Given the description of an element on the screen output the (x, y) to click on. 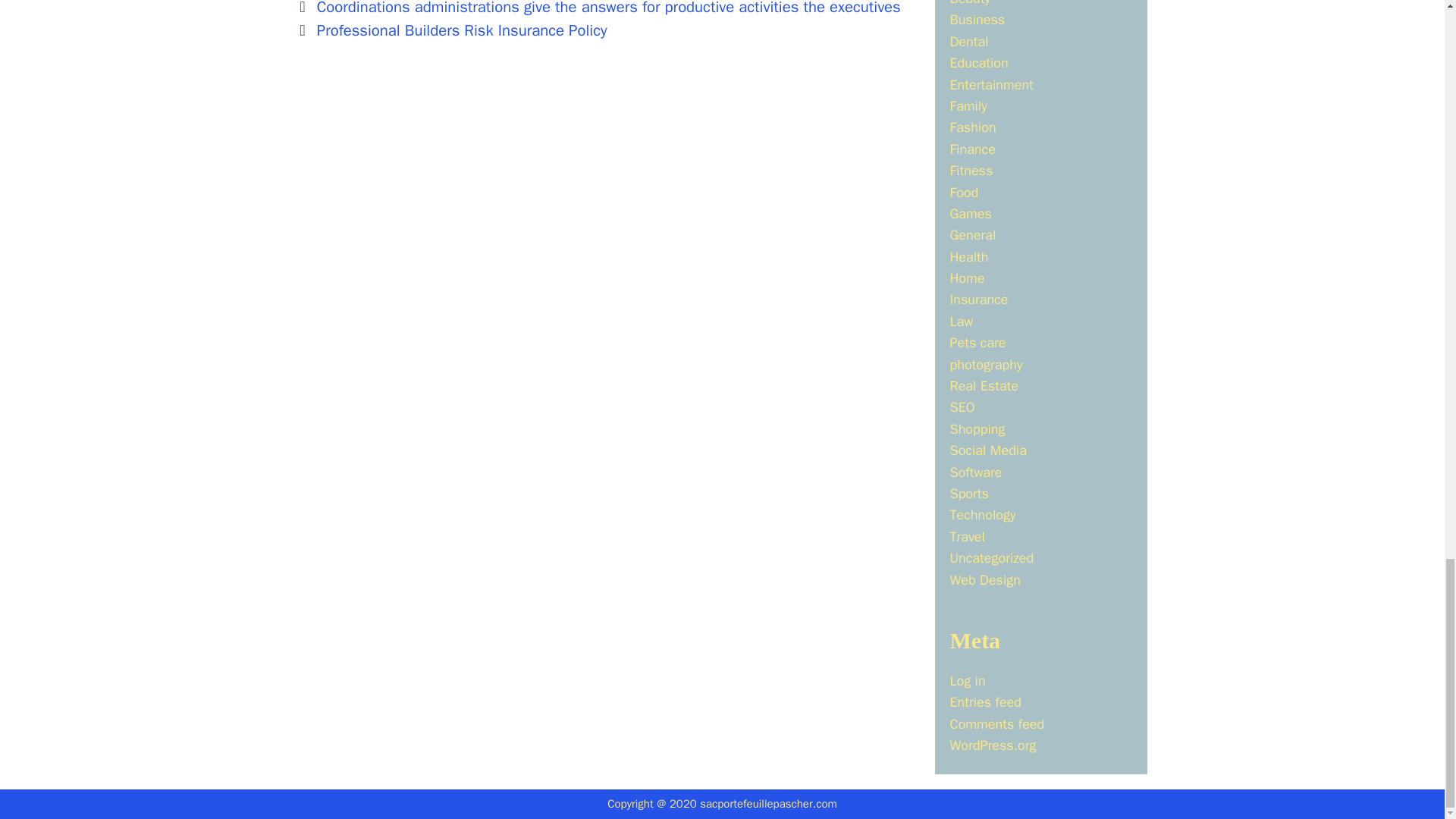
Previous (598, 8)
Next (452, 30)
Professional Builders Risk Insurance Policy (462, 30)
